Given the description of an element on the screen output the (x, y) to click on. 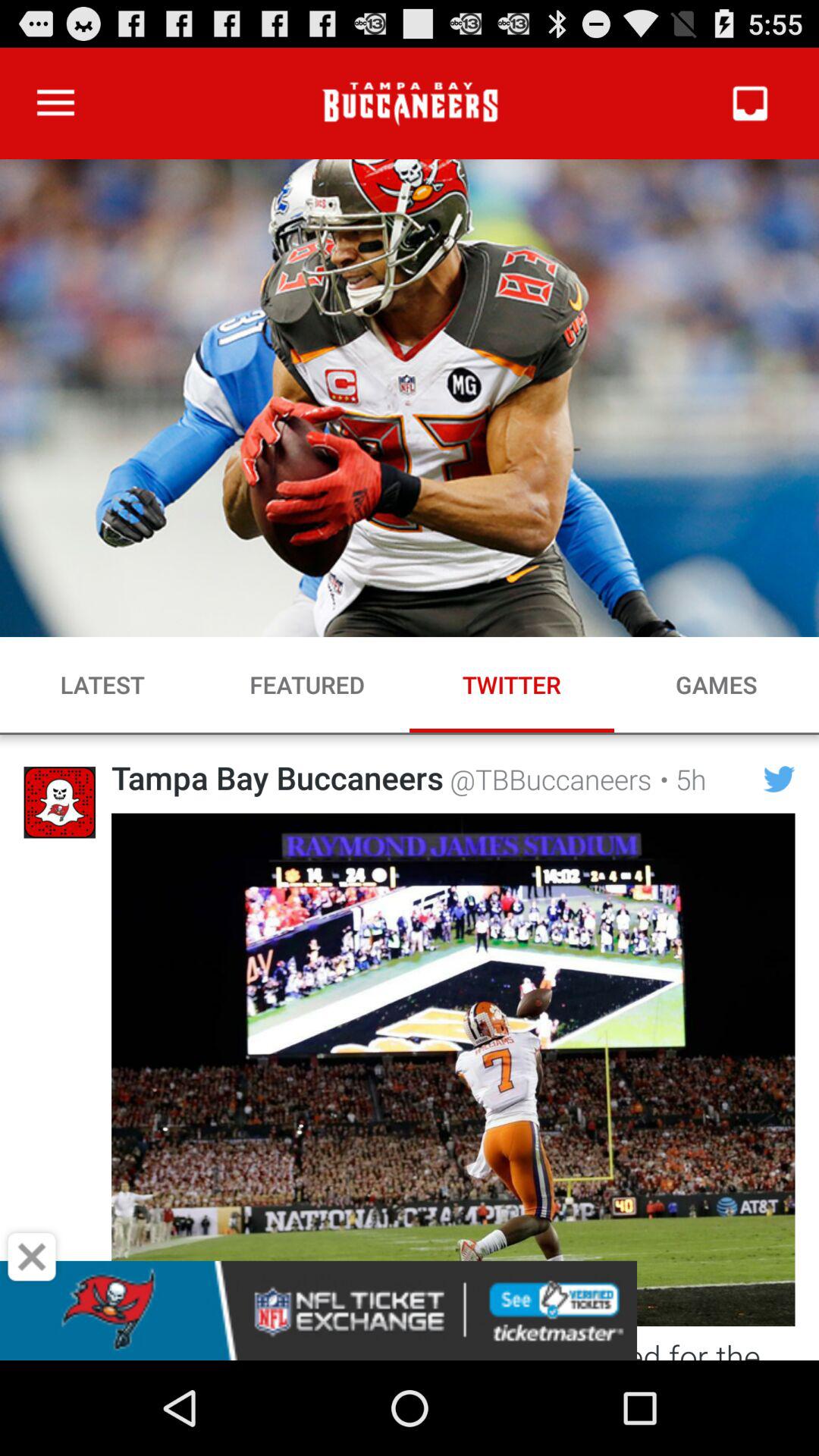
click to view add (409, 1310)
